Given the description of an element on the screen output the (x, y) to click on. 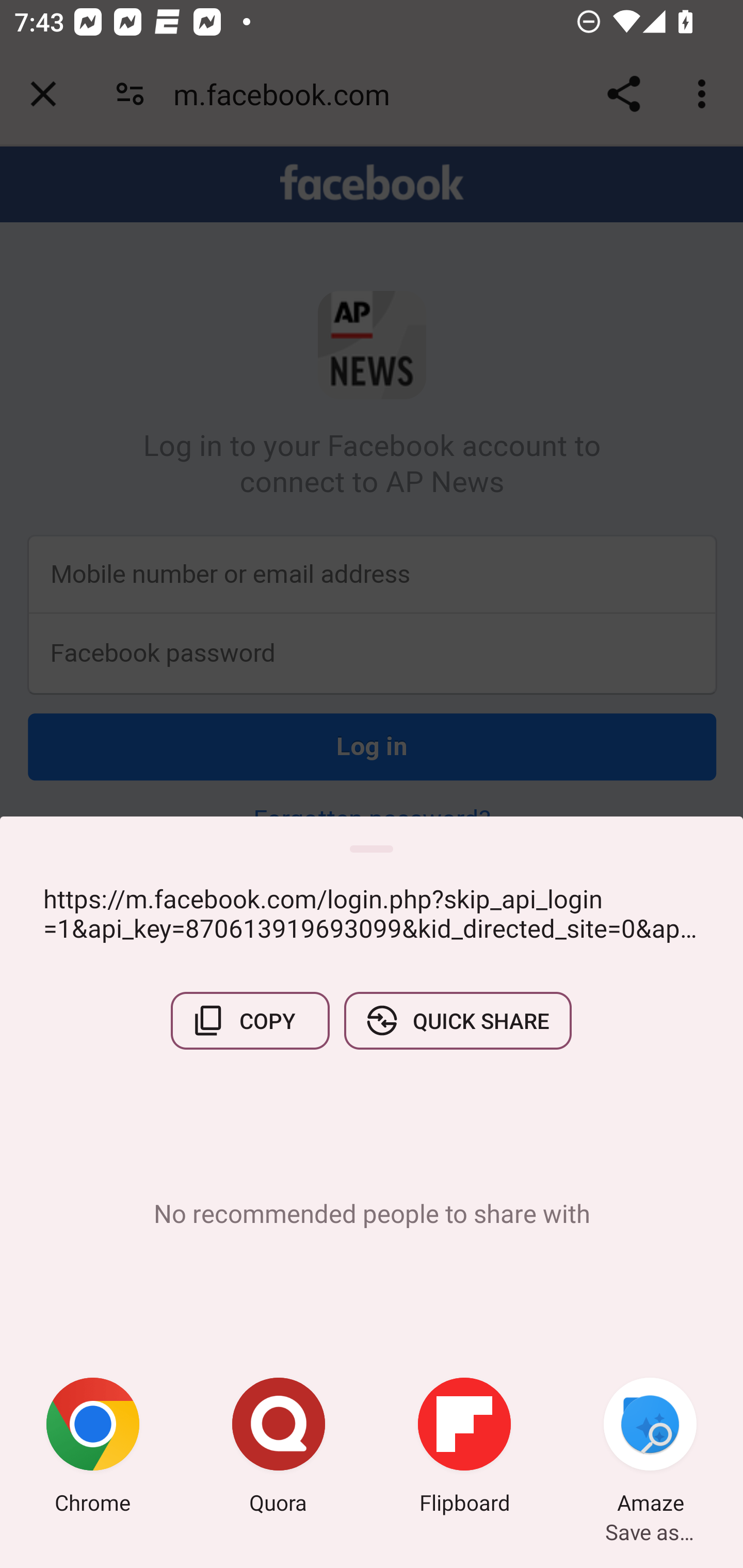
COPY (249, 1020)
QUICK SHARE (457, 1020)
Chrome (92, 1448)
Quora (278, 1448)
Flipboard (464, 1448)
Amaze Save as… (650, 1448)
